Given the description of an element on the screen output the (x, y) to click on. 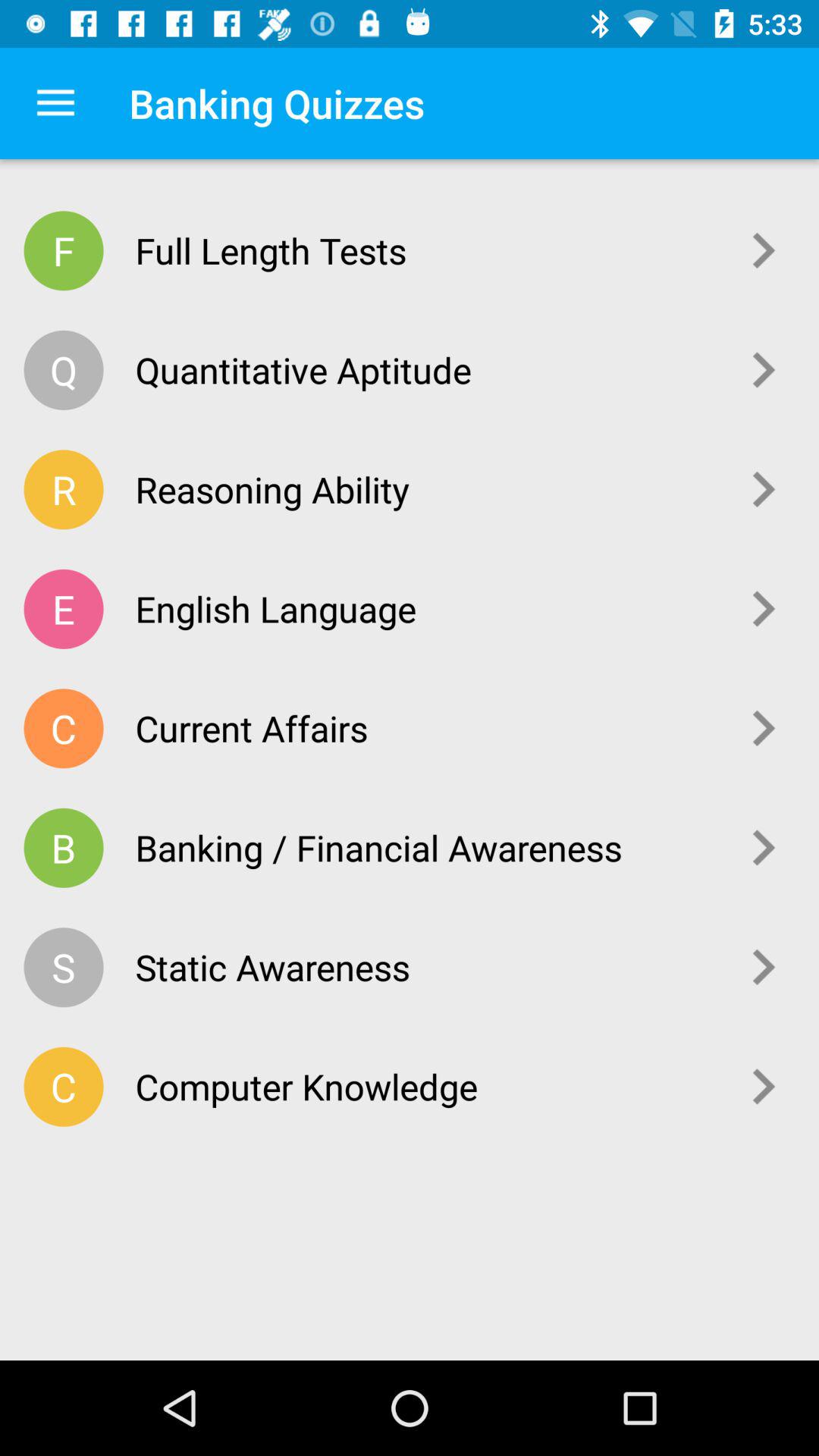
select the icon below the b item (63, 967)
